Given the description of an element on the screen output the (x, y) to click on. 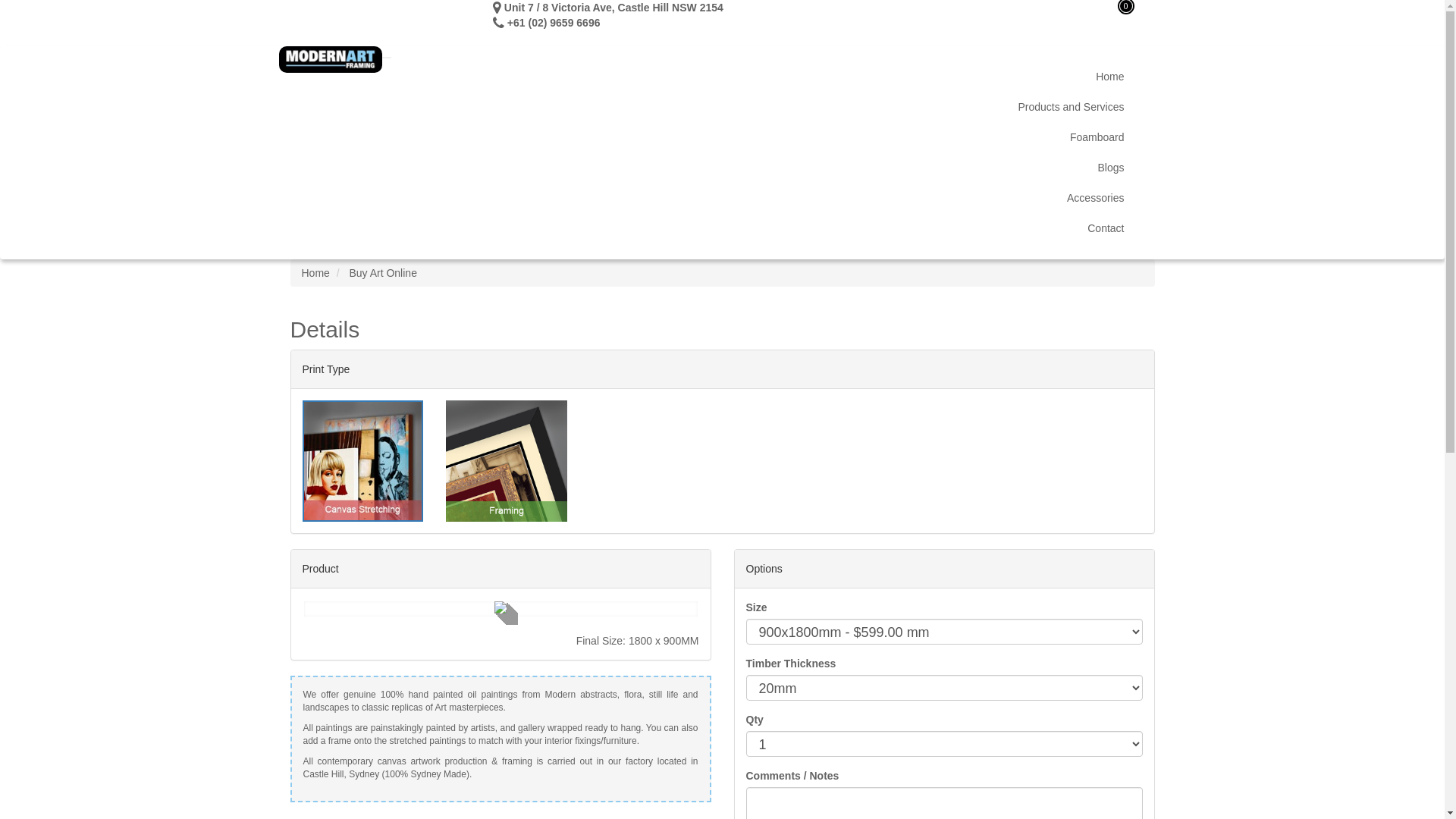
+61 (02) 9659 6696 Element type: text (552, 22)
Products and Services Element type: text (722, 106)
Foamboard Element type: text (722, 137)
Blogs Element type: text (722, 167)
Home Element type: text (722, 76)
Rizki Sadig Element type: text (751, 7)
Home Element type: text (315, 272)
Accessories Element type: text (722, 197)
Buy Art Online Element type: text (382, 272)
Rizki Sadig Element type: text (627, 22)
Contact Element type: text (722, 228)
